Given the description of an element on the screen output the (x, y) to click on. 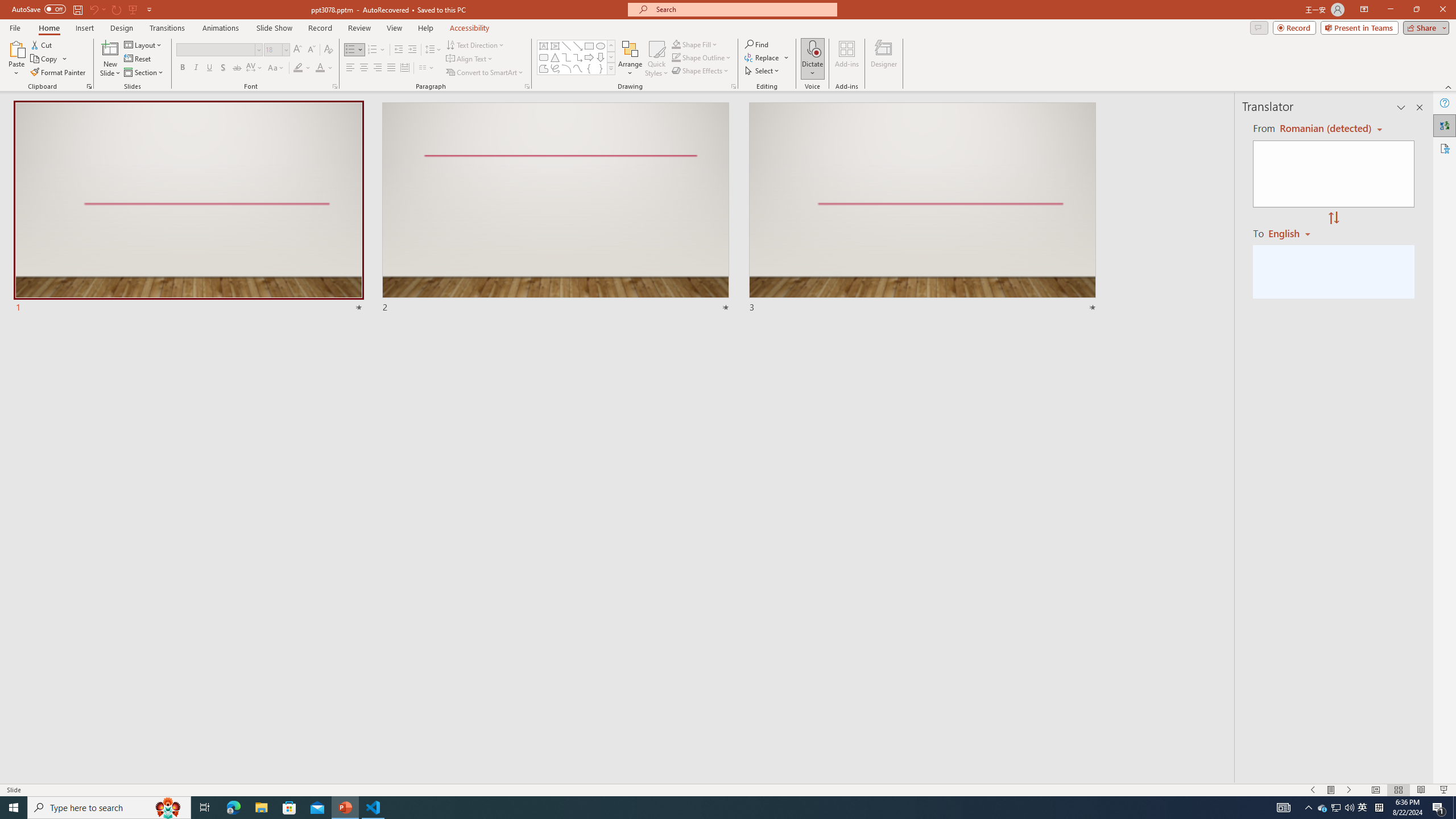
Freeform: Scribble (554, 68)
Arc (566, 68)
Bold (182, 67)
Shape Outline Green, Accent 1 (675, 56)
Left Brace (589, 68)
Font... (334, 85)
